Given the description of an element on the screen output the (x, y) to click on. 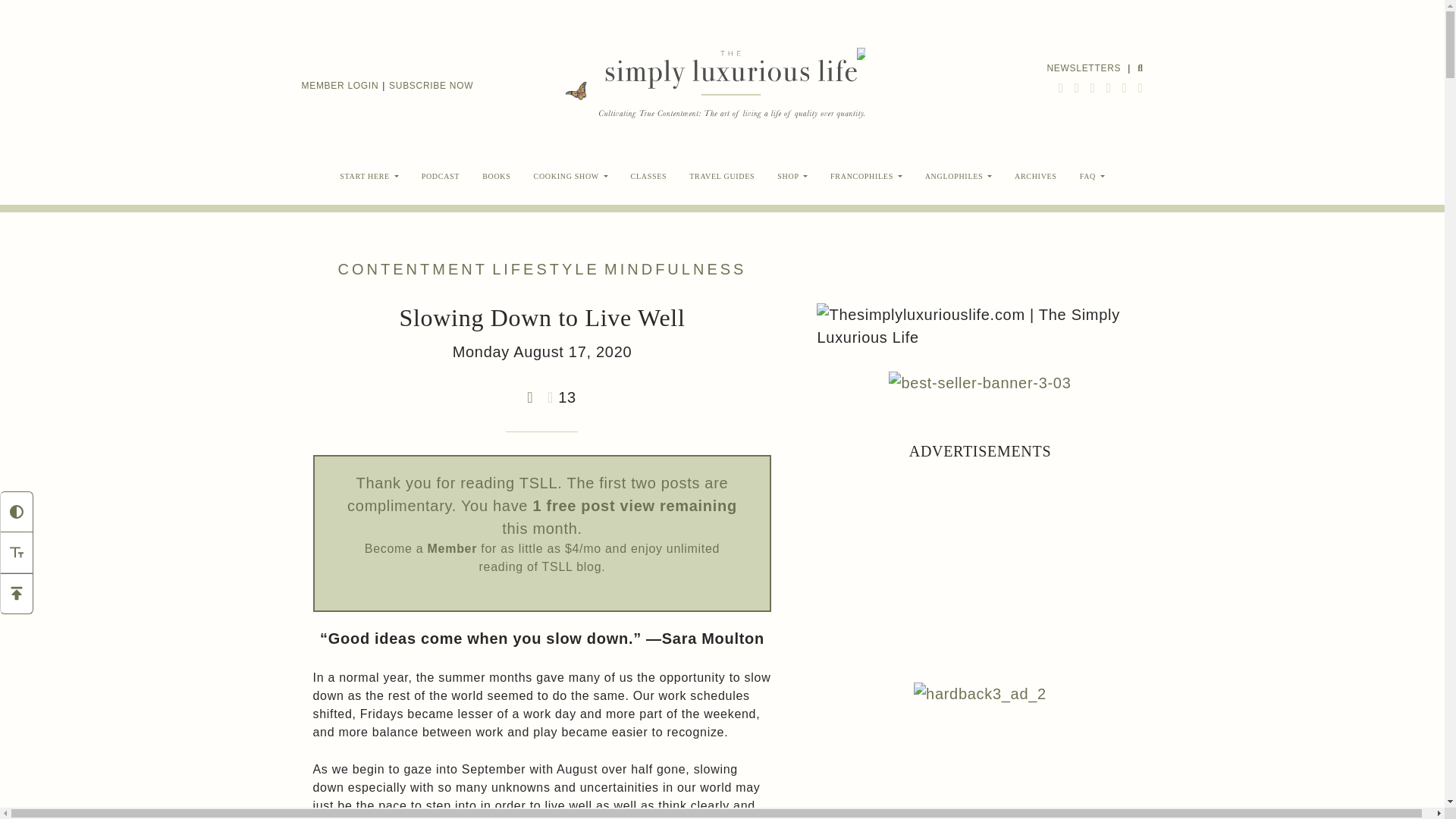
NEWSLETTERS (1083, 67)
PODCAST (440, 176)
SHOP (791, 176)
START HERE (369, 176)
CLASSES (649, 176)
COOKING SHOW (571, 176)
Back to The Simply Luxurious Life Home Page (728, 85)
BOOKS (495, 176)
TRAVEL GUIDES (721, 176)
SUBSCRIBE NOW (430, 85)
